Given the description of an element on the screen output the (x, y) to click on. 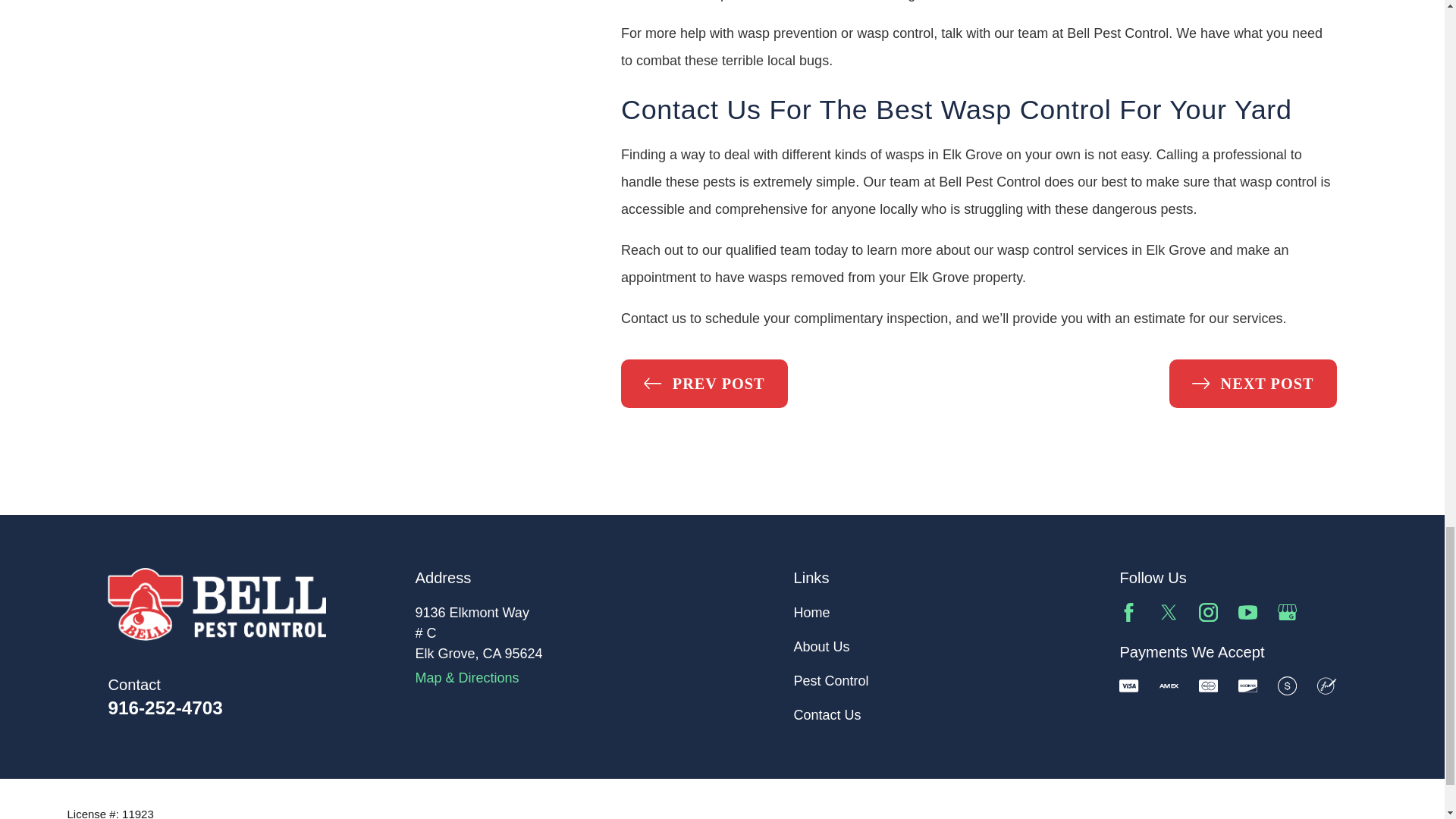
Google Business Profile (1287, 611)
Visa (1128, 685)
YouTube (1248, 611)
MasterCard (1207, 685)
Twitter (1167, 611)
AMEX (1167, 685)
Facebook (1128, 611)
Home (216, 604)
Instagram (1207, 611)
